Given the description of an element on the screen output the (x, y) to click on. 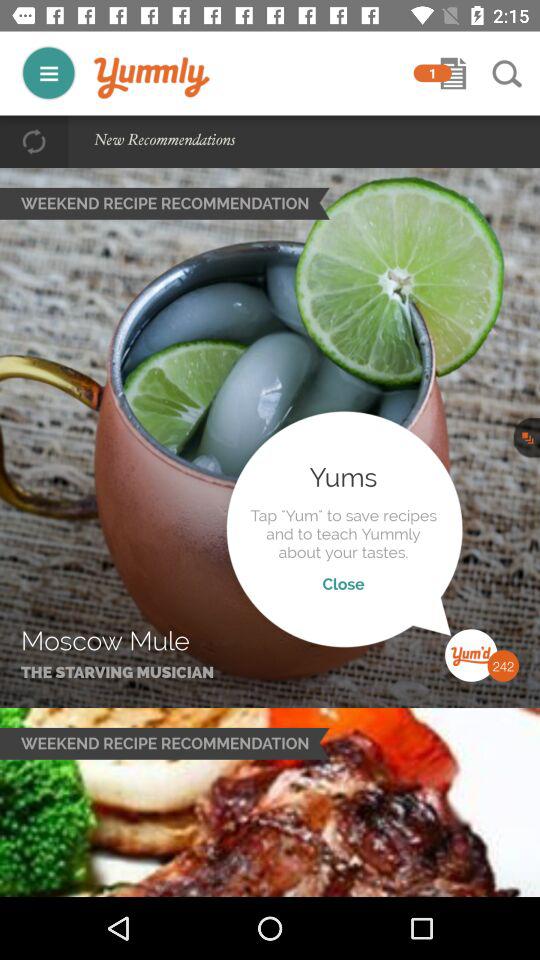
click grid to open settings options (48, 72)
